Given the description of an element on the screen output the (x, y) to click on. 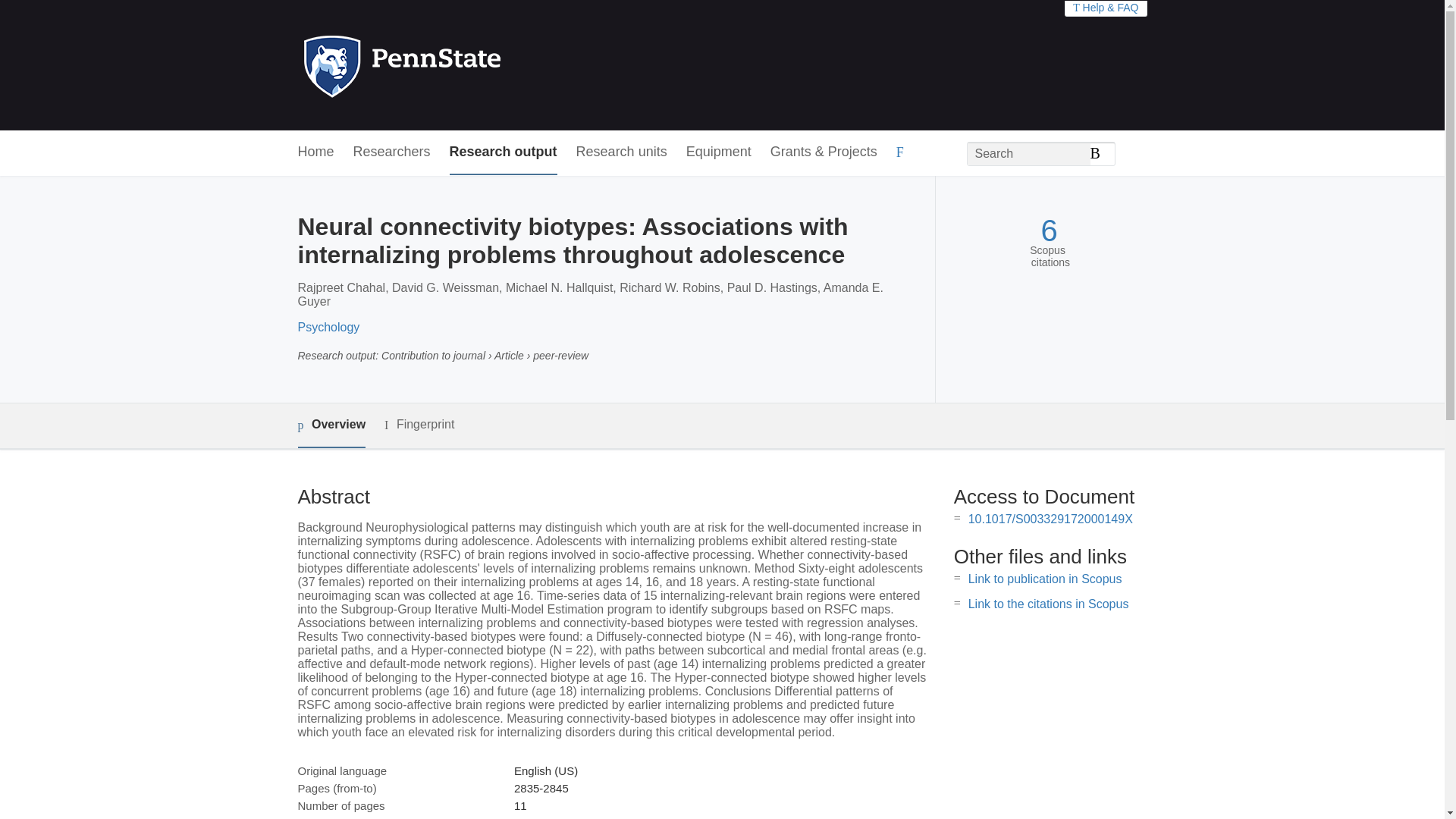
Researchers (391, 152)
Fingerprint (419, 424)
Link to the citations in Scopus (1048, 603)
Overview (331, 425)
Research output (503, 152)
Equipment (718, 152)
Link to publication in Scopus (1045, 578)
Penn State Home (467, 65)
Research units (621, 152)
Psychological medicine (572, 817)
Psychology (328, 327)
